Given the description of an element on the screen output the (x, y) to click on. 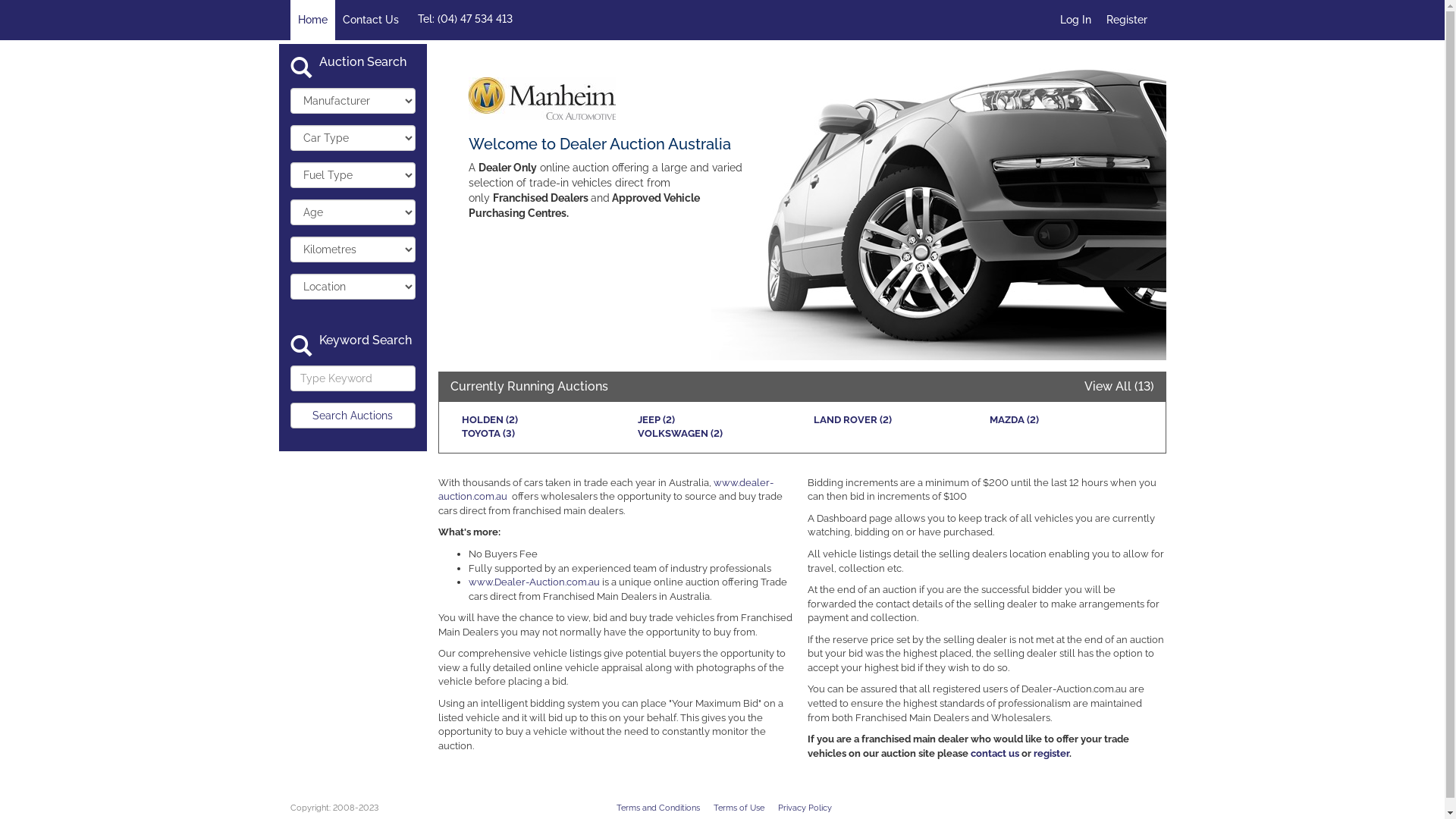
HOLDEN (2) Element type: text (489, 419)
MAZDA (2) Element type: text (1013, 419)
JEEP (2) Element type: text (655, 419)
LAND ROVER (2) Element type: text (851, 419)
www.dealer-auction.com.au Element type: text (605, 489)
Privacy Policy Element type: text (804, 807)
View All (13) Element type: text (1119, 386)
www.Dealer-Auction.com.au Element type: text (533, 581)
Home Element type: text (311, 20)
Search Auctions Element type: text (351, 415)
Search Auctions Element type: hover (351, 415)
(04) 47 534 413 Element type: text (473, 18)
Terms of Use Element type: text (737, 807)
contact us Element type: text (994, 753)
Terms and Conditions Element type: text (657, 807)
Register Element type: text (1126, 20)
register Element type: text (1051, 753)
Log In Element type: text (1075, 20)
VOLKSWAGEN (2) Element type: text (679, 433)
TOYOTA (3) Element type: text (487, 433)
Contact Us Element type: text (370, 20)
